Given the description of an element on the screen output the (x, y) to click on. 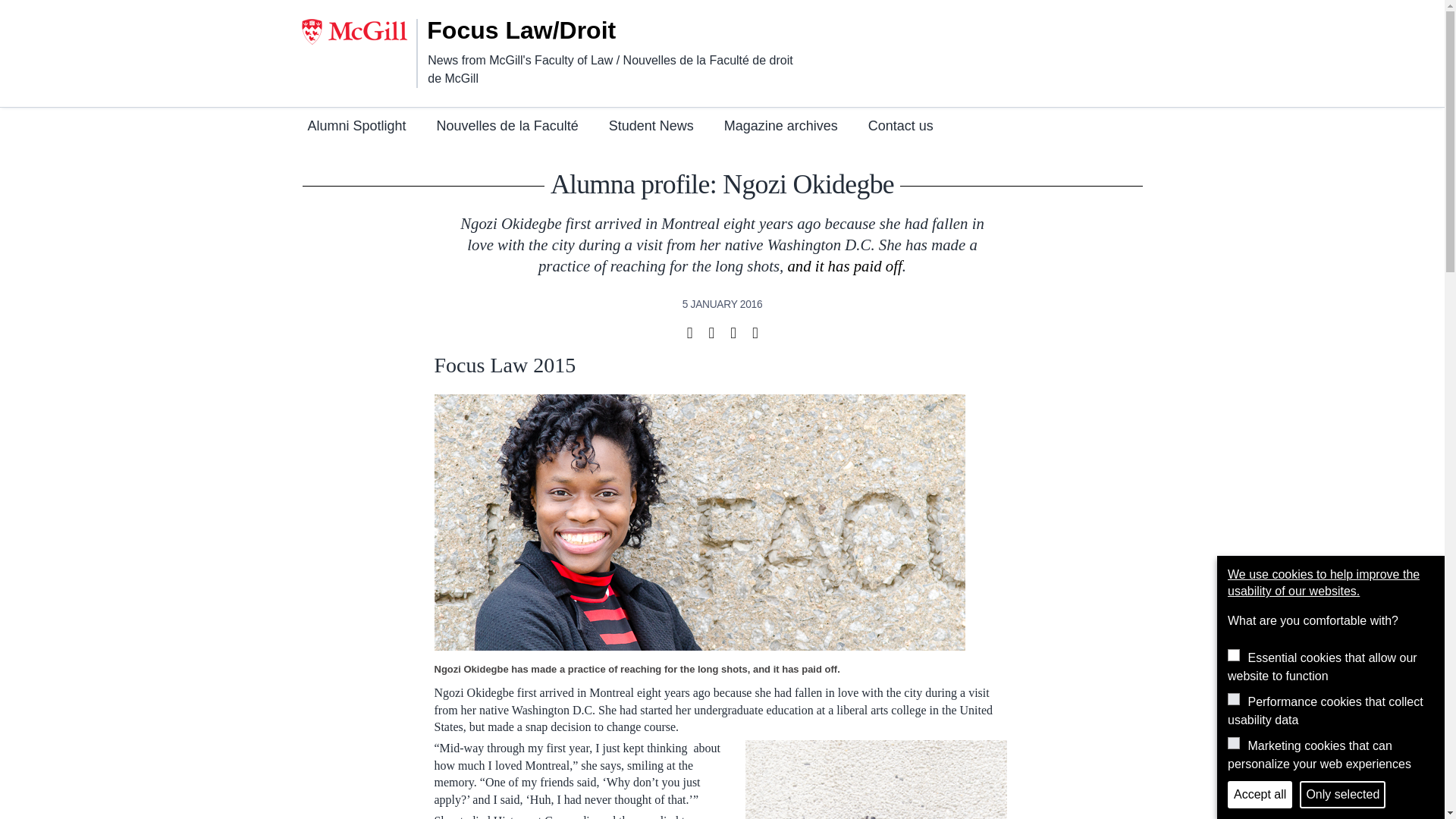
marketing (1233, 743)
Student News (651, 128)
Only selected (1343, 794)
Home (540, 30)
and it has paid off (844, 265)
Magazine archives (780, 128)
Accept all (1259, 794)
performance (1233, 698)
required (1233, 654)
Search (1102, 24)
Alumni Spotlight (356, 128)
McGill University (358, 31)
Contact us (900, 128)
